Given the description of an element on the screen output the (x, y) to click on. 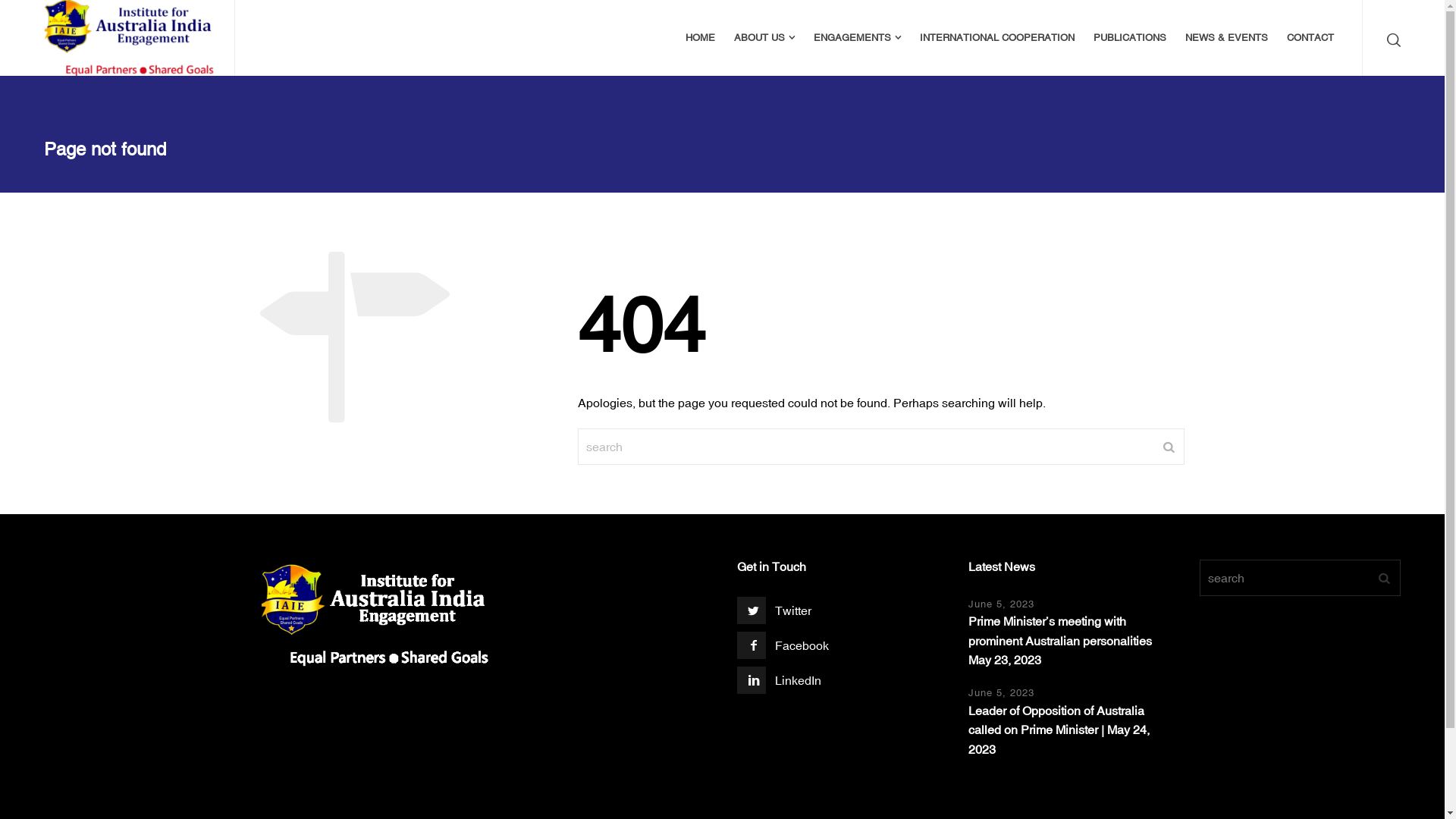
Institute for Australia India Engagement (IAIE) Element type: hover (129, 37)
NEWS & EVENTS Element type: text (1226, 37)
Facebook Element type: text (786, 644)
PUBLICATIONS Element type: text (1130, 37)
ENGAGEMENTS Element type: text (857, 37)
Twitter Element type: text (786, 610)
LinkedIn Element type: text (786, 679)
Search Element type: hover (1390, 38)
CONTACT Element type: text (1310, 37)
ABOUT US Element type: text (764, 37)
INTERNATIONAL COOPERATION Element type: text (997, 37)
HOME Element type: text (700, 37)
